Given the description of an element on the screen output the (x, y) to click on. 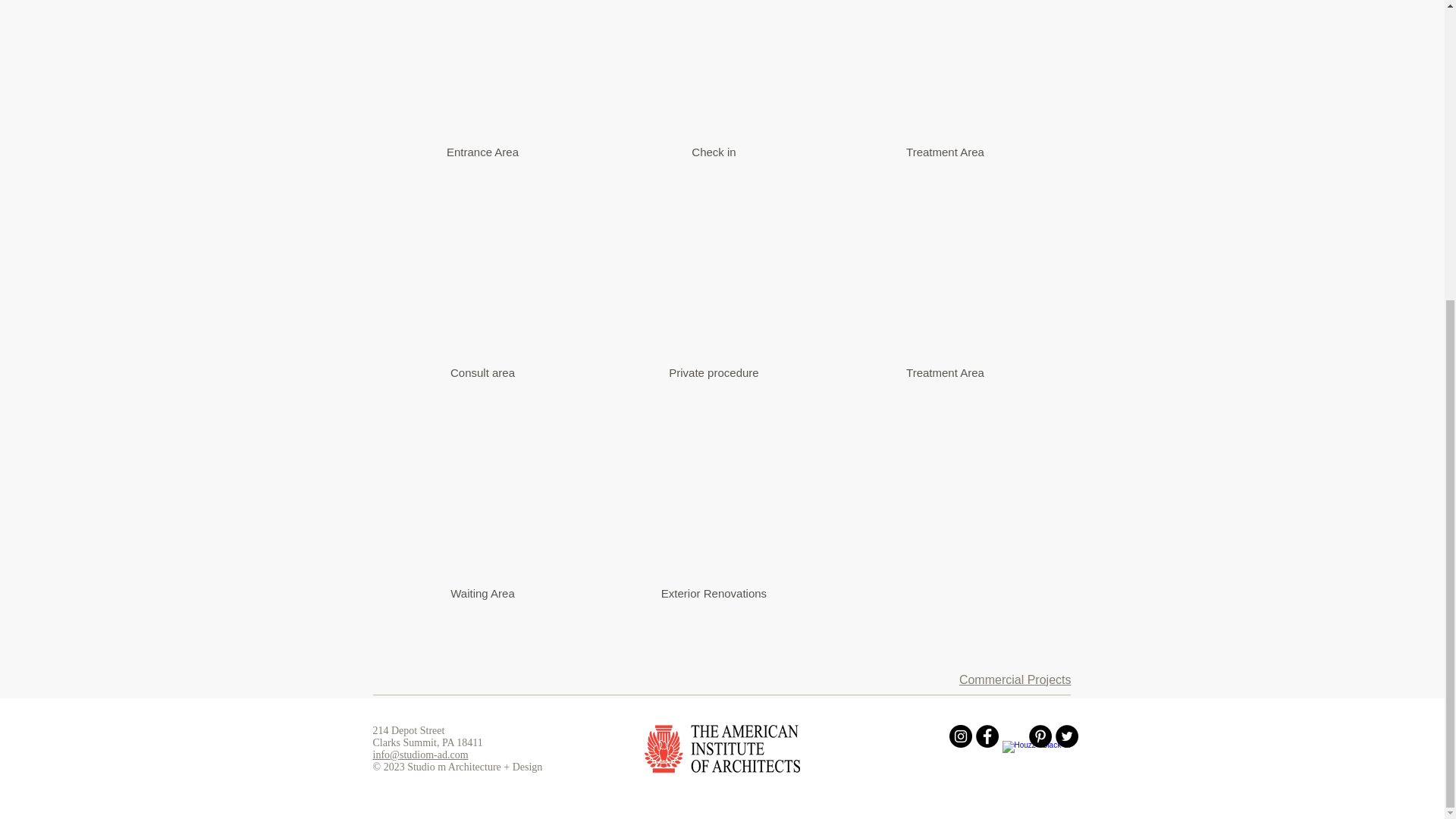
Commercial Projects (1015, 679)
AIA (722, 748)
